Given the description of an element on the screen output the (x, y) to click on. 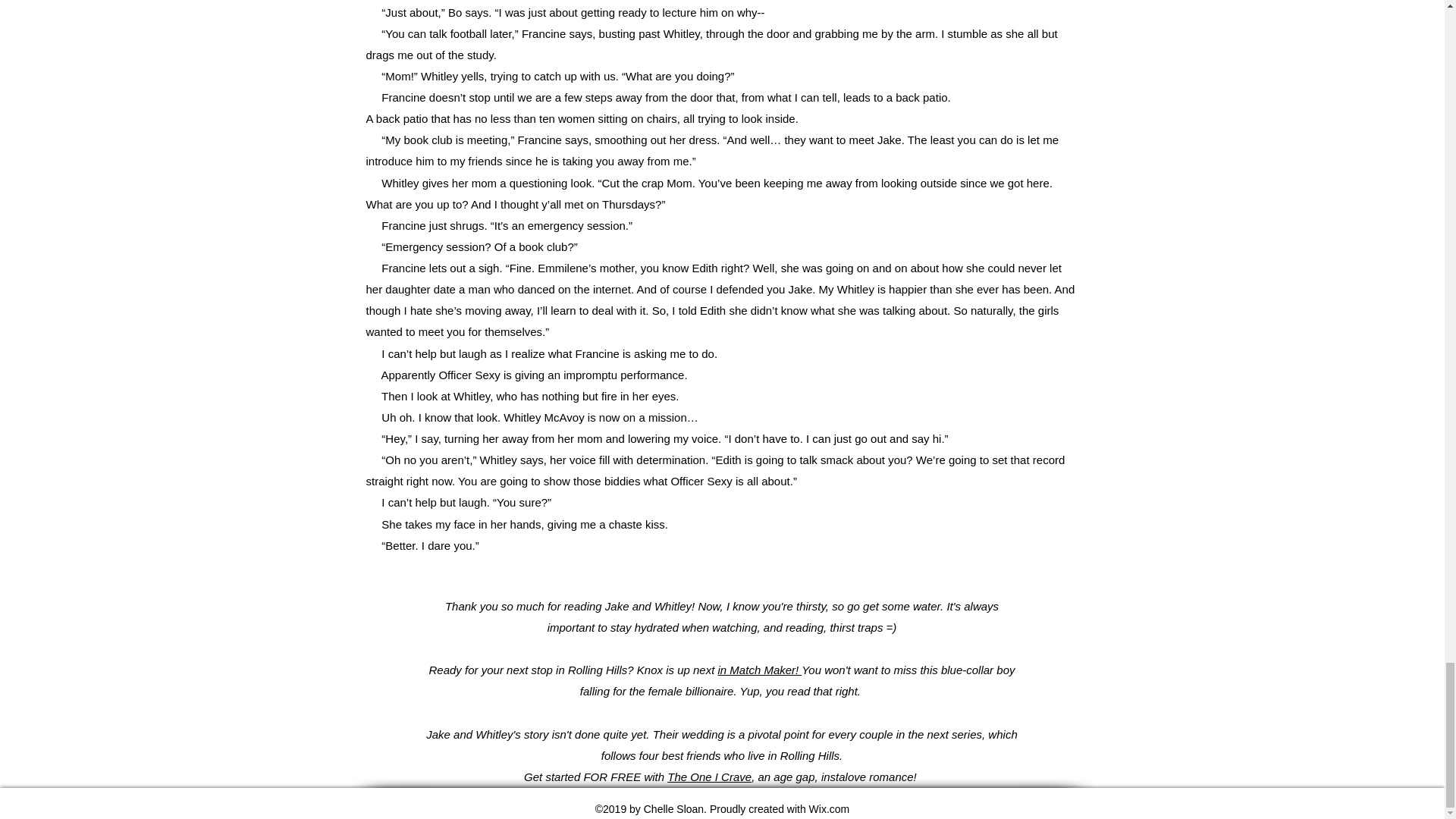
The One I Crave (708, 776)
in Match Maker! (759, 669)
